Given the description of an element on the screen output the (x, y) to click on. 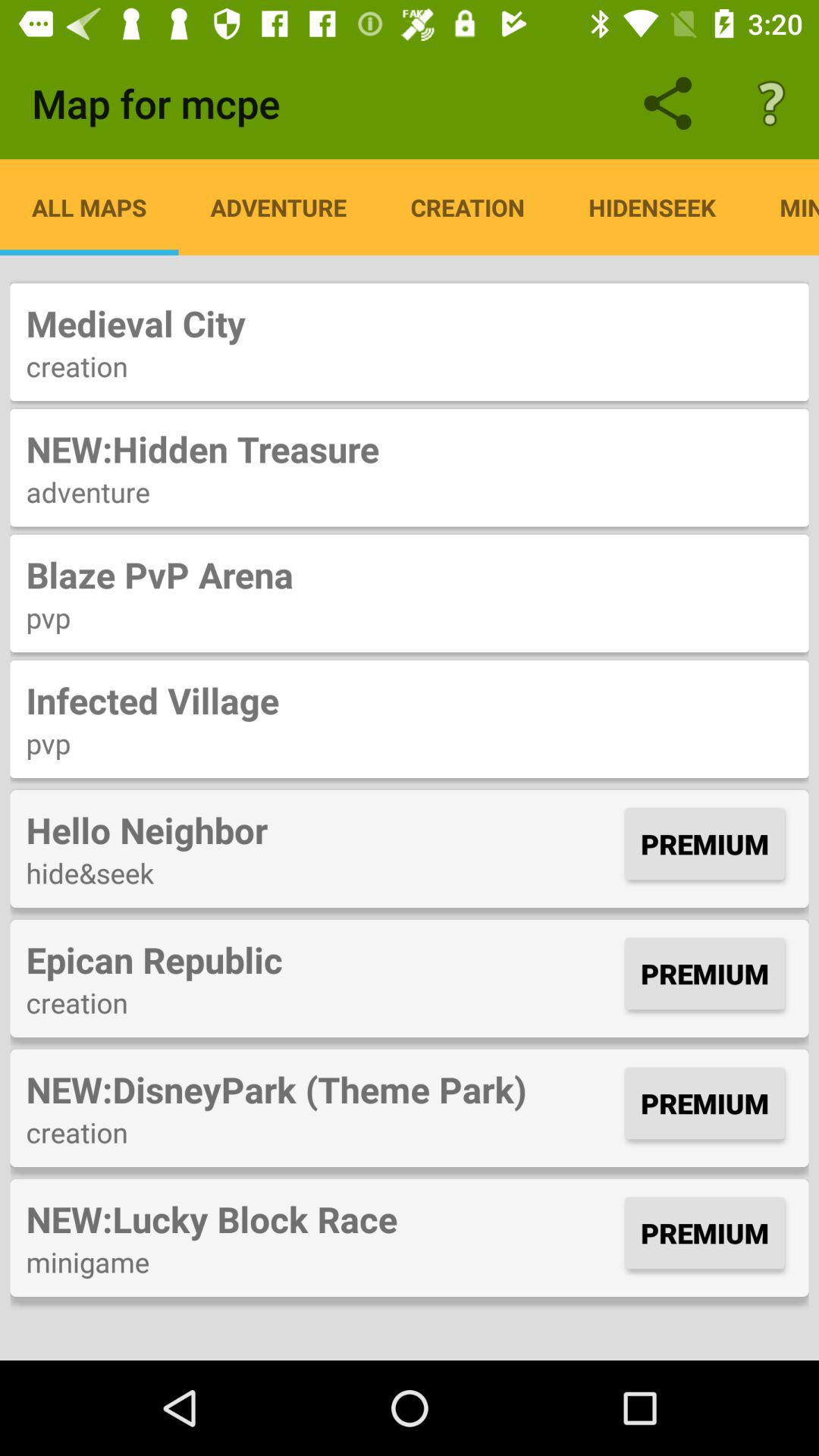
select the item below the map for mcpe (89, 207)
